Given the description of an element on the screen output the (x, y) to click on. 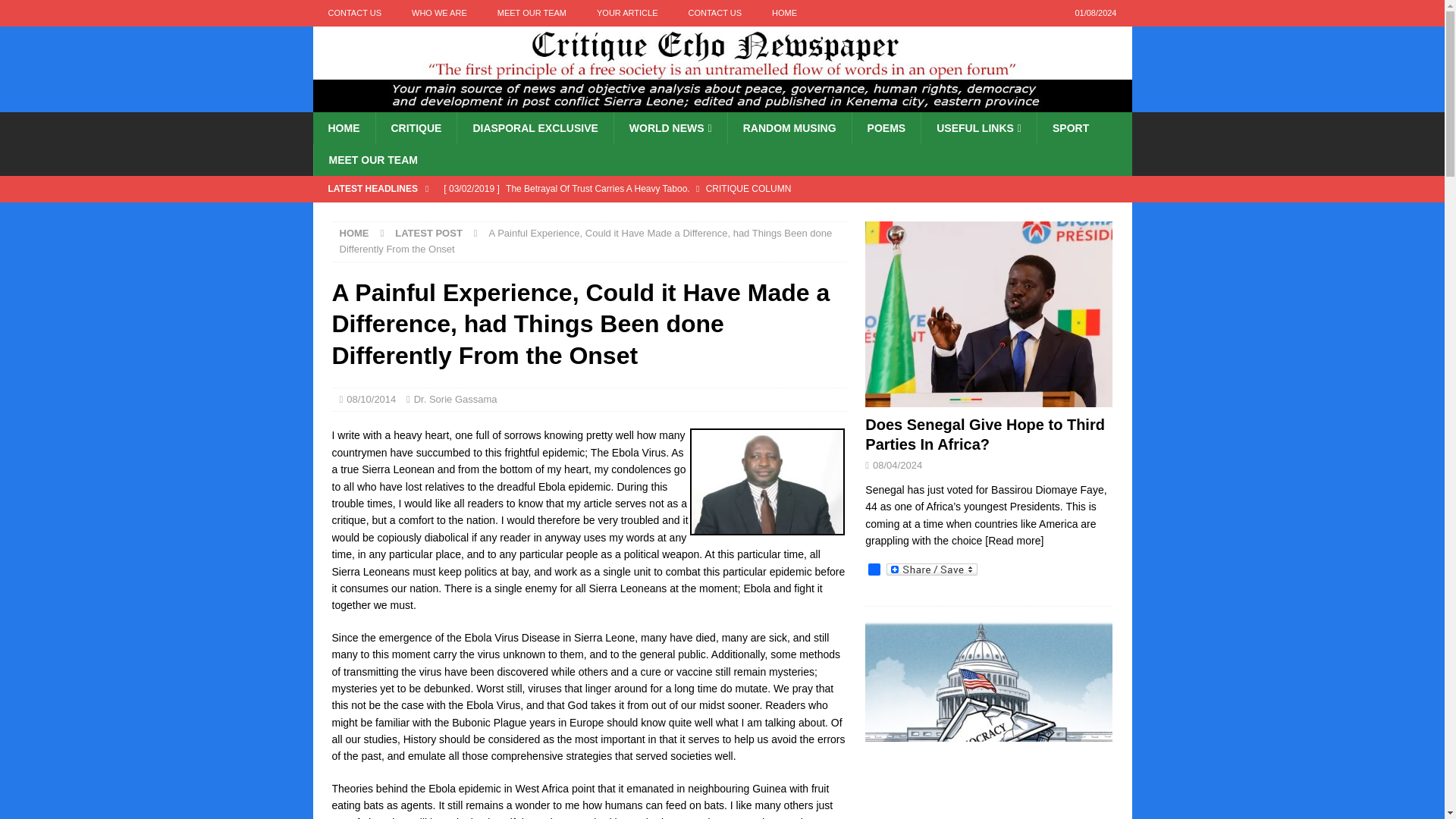
Does Senegal Give Hope to Third Parties In Africa? (639, 214)
YOUR ARTICLE (626, 13)
The Betrayal Of Trust Carries A Heavy Taboo. (639, 188)
HOME (784, 13)
CONTACT US (714, 13)
DIASPORAL EXCLUSIVE (534, 128)
WORLD NEWS (669, 128)
MEET OUR TEAM (530, 13)
CONTACT US (354, 13)
Critique Echo Newspaper (722, 102)
WHO WE ARE (438, 13)
CRITIQUE (415, 128)
HOME (343, 128)
